Given the description of an element on the screen output the (x, y) to click on. 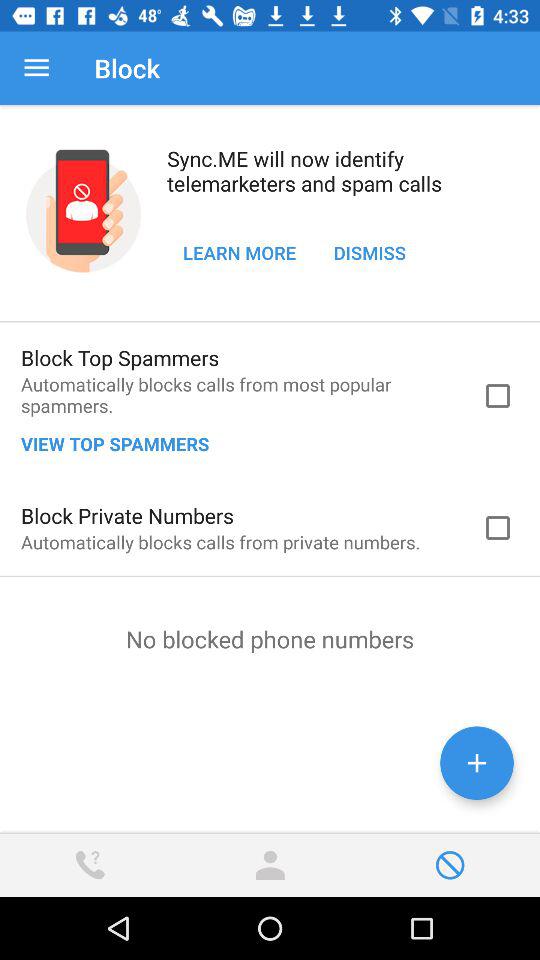
choose the item to the left of block item (36, 68)
